Given the description of an element on the screen output the (x, y) to click on. 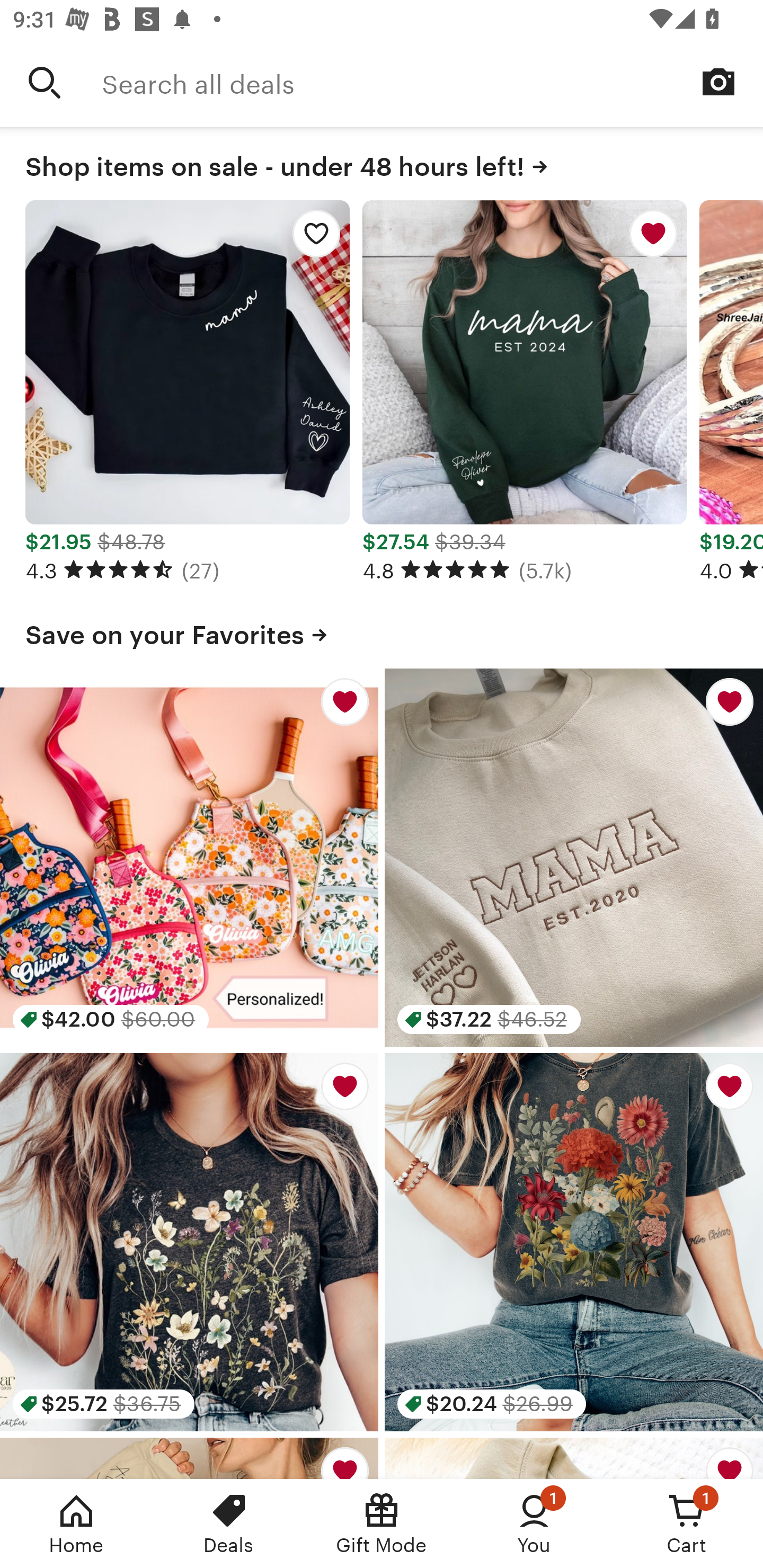
Search for anything on Etsy (44, 82)
Search by image (718, 81)
Search all deals (432, 82)
Shop items on sale - under 48 hours left! (381, 163)
Save on your Favorites (381, 631)
Home (76, 1523)
Gift Mode (381, 1523)
You, 1 new notification You (533, 1523)
Cart, 1 new notification Cart (686, 1523)
